Given the description of an element on the screen output the (x, y) to click on. 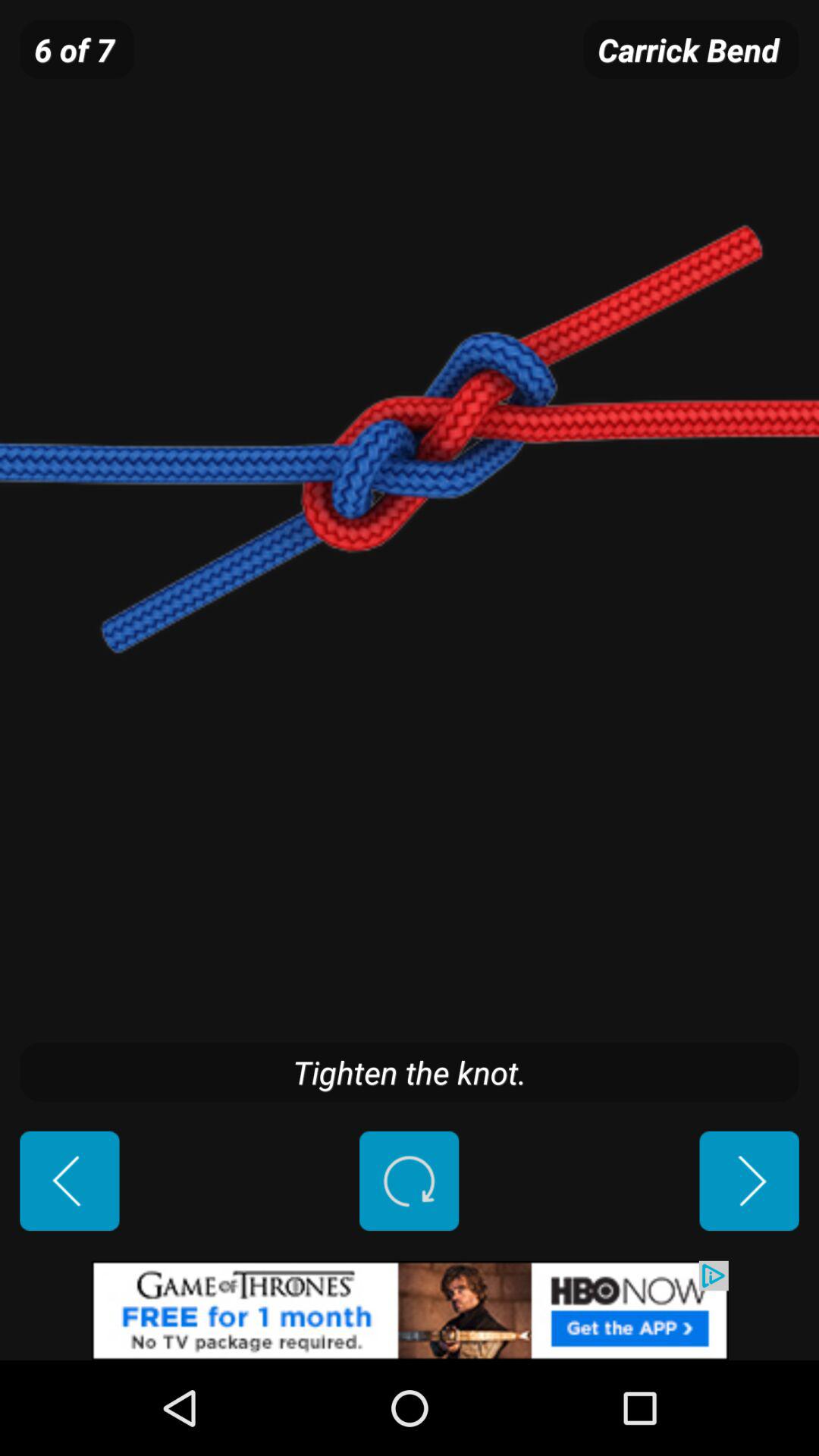
go to advertisement source (409, 1310)
